Given the description of an element on the screen output the (x, y) to click on. 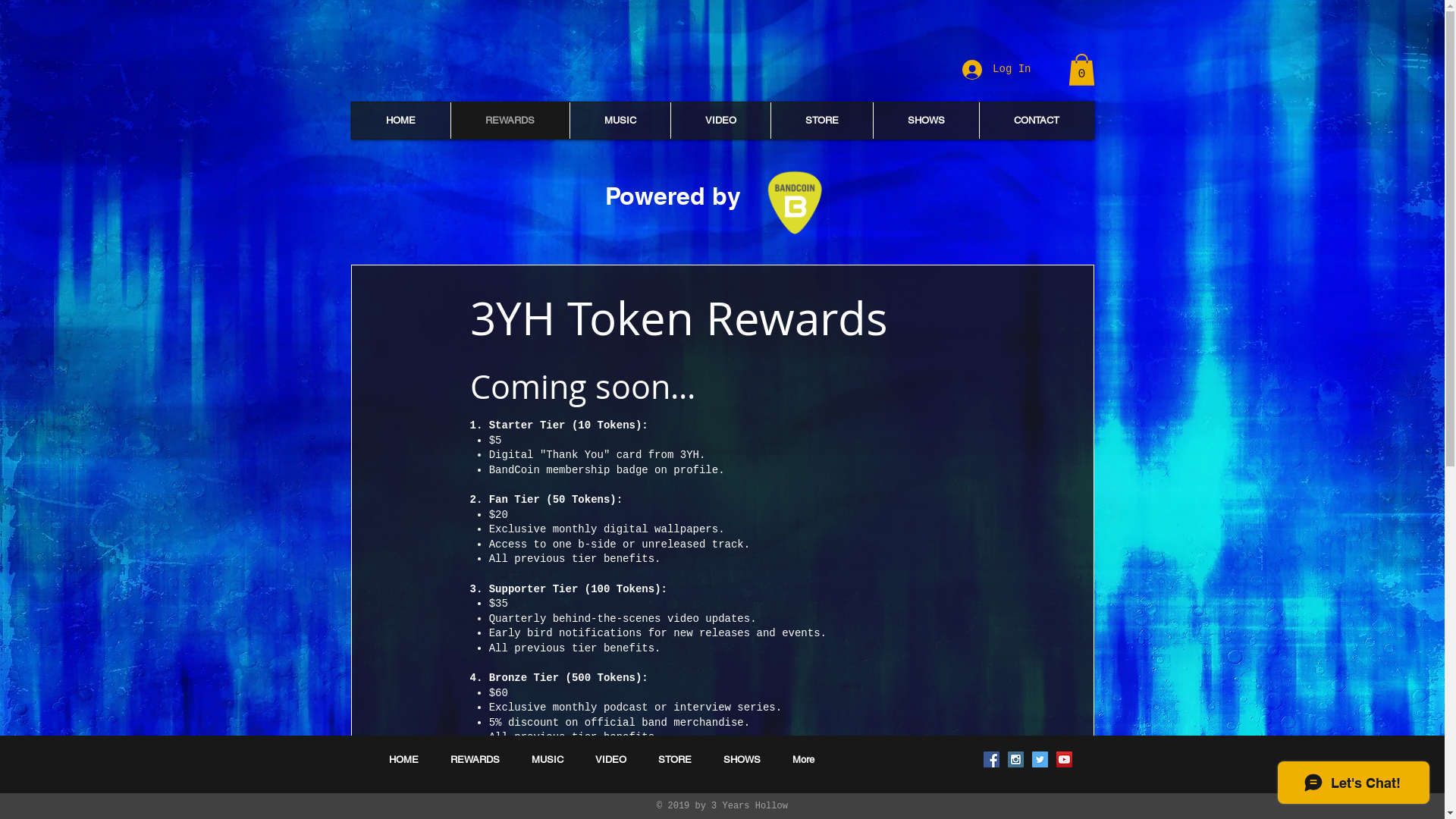
CONTACT Element type: text (1035, 120)
VIDEO Element type: text (720, 120)
STORE Element type: text (821, 120)
HOME Element type: text (403, 759)
VIDEO Element type: text (610, 759)
HOME Element type: text (400, 120)
0 Element type: text (1080, 69)
STORE Element type: text (674, 759)
SHOWS Element type: text (925, 120)
REWARDS Element type: text (474, 759)
MUSIC Element type: text (547, 759)
MUSIC Element type: text (618, 120)
REWARDS Element type: text (509, 120)
SHOWS Element type: text (741, 759)
Log In Element type: text (996, 69)
